Given the description of an element on the screen output the (x, y) to click on. 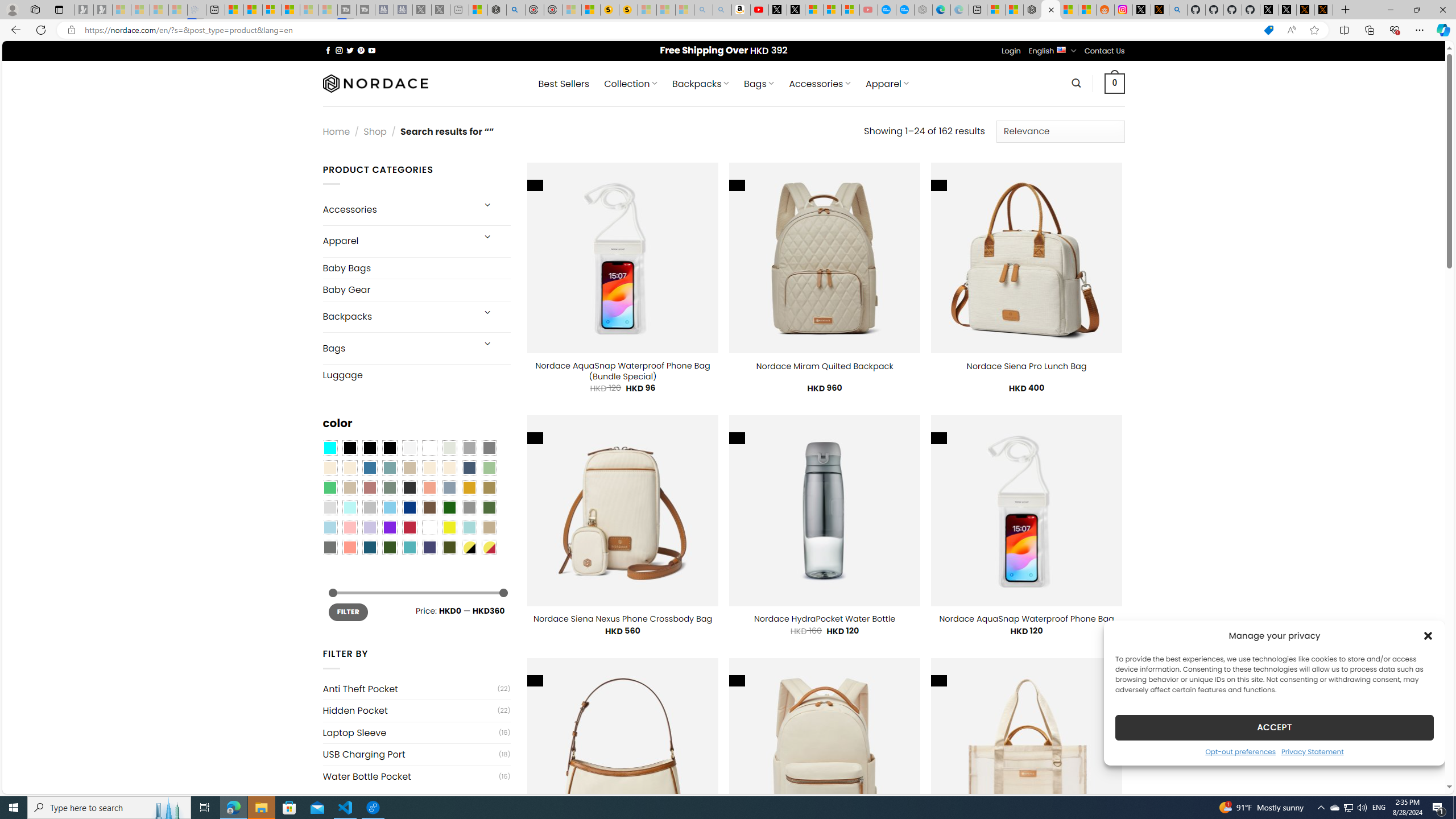
Gold (468, 487)
Hidden Pocket (409, 710)
This site has coupons! Shopping in Microsoft Edge (1268, 29)
Navy Blue (408, 507)
Baby Gear (416, 289)
Settings and more (Alt+F) (1419, 29)
Laptop Sleeve(16) (416, 732)
